Given the description of an element on the screen output the (x, y) to click on. 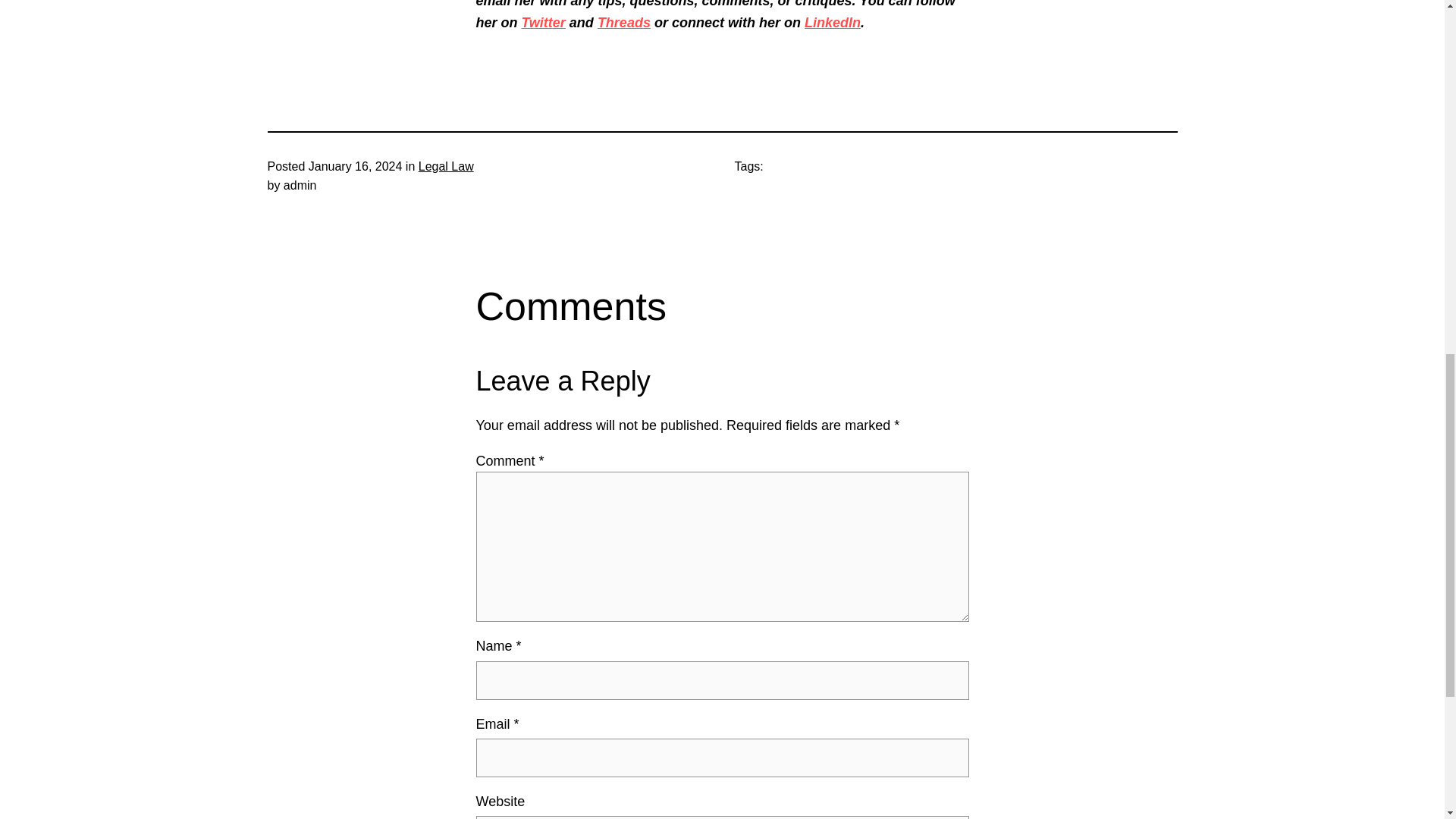
LinkedIn (832, 22)
Threads (623, 22)
Legal Law (446, 165)
Twitter (543, 22)
